Given the description of an element on the screen output the (x, y) to click on. 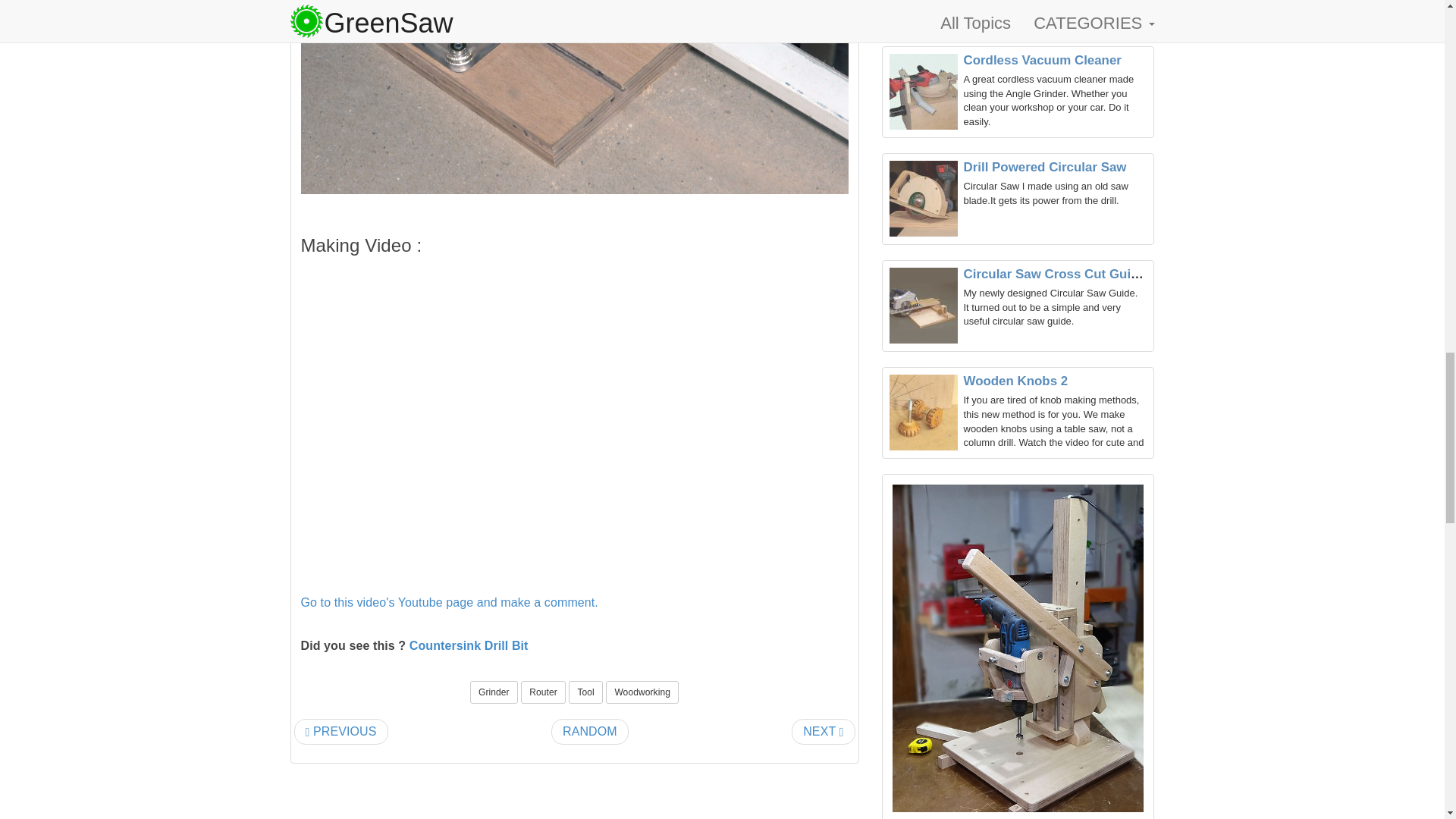
Router (543, 691)
3.jpg image on T Track Router Bit, page  (573, 97)
Tool (585, 691)
 PREVIOUS (341, 732)
Go to this video's Youtube page and make a comment. (447, 602)
Woodworking (641, 691)
Grinder (494, 691)
Countersink Drill Bit (468, 645)
RANDOM (589, 732)
NEXT  (823, 732)
